Given the description of an element on the screen output the (x, y) to click on. 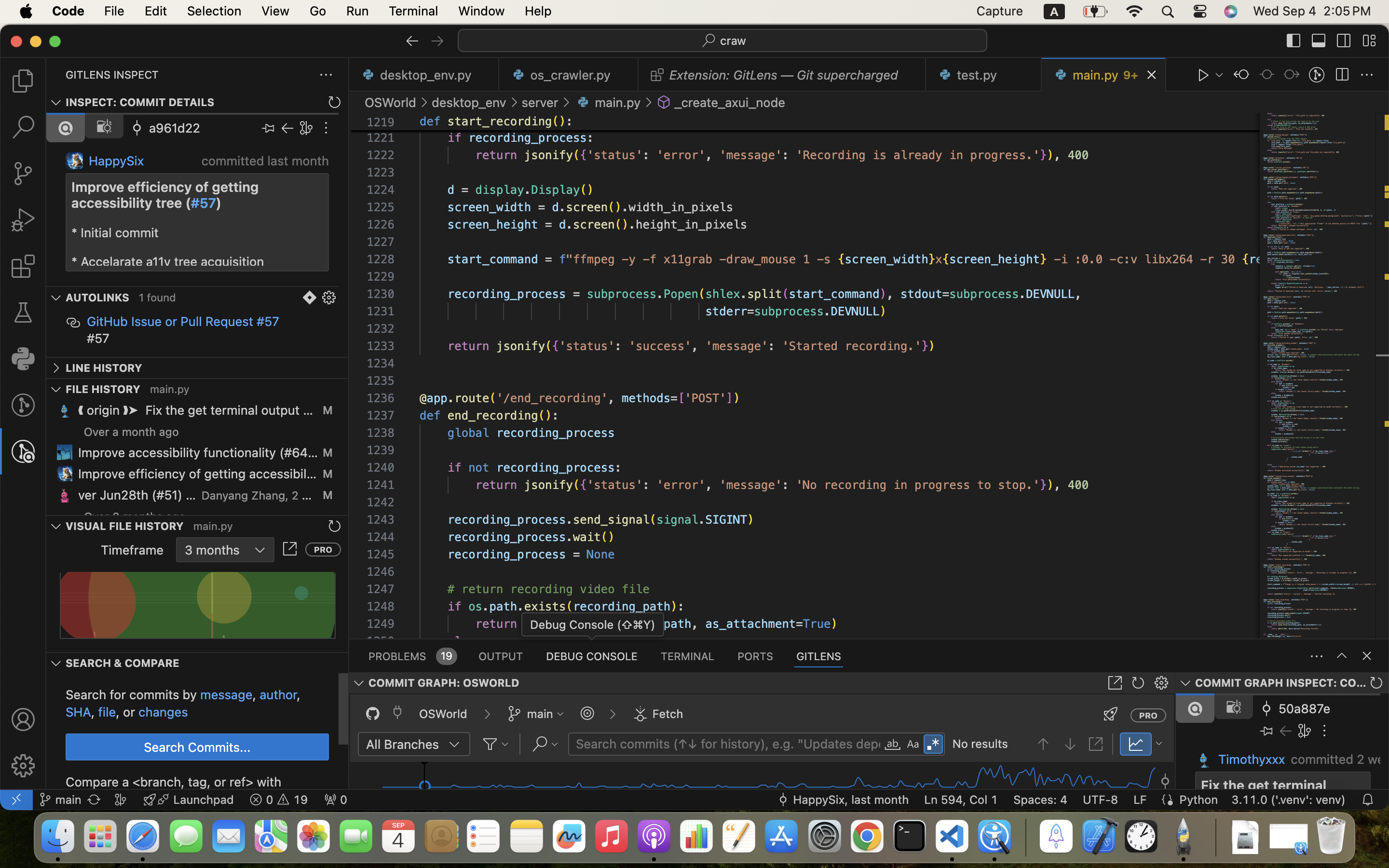
 Element type: AXCheckBox (1341, 655)
0 PROBLEMS 19 Element type: AXRadioButton (411, 655)
COMMIT GRAPH INSPECT: COMMIT DETAILS   Element type: AXButton (1282, 682)
, or Element type: AXStaticText (126, 712)
3 months Element type: AXComboBox (224, 549)
